Given the description of an element on the screen output the (x, y) to click on. 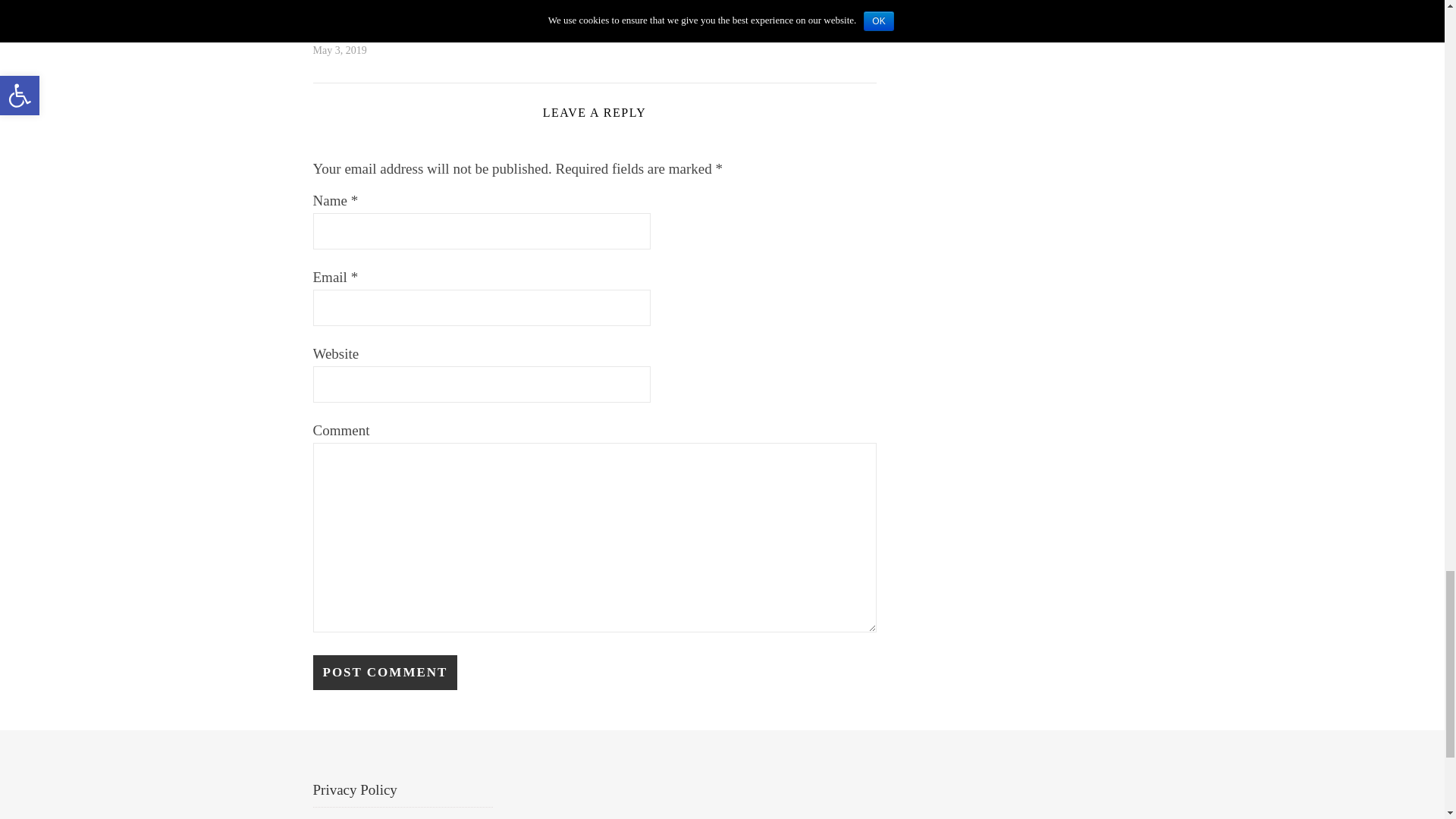
Post Comment (385, 672)
